Given the description of an element on the screen output the (x, y) to click on. 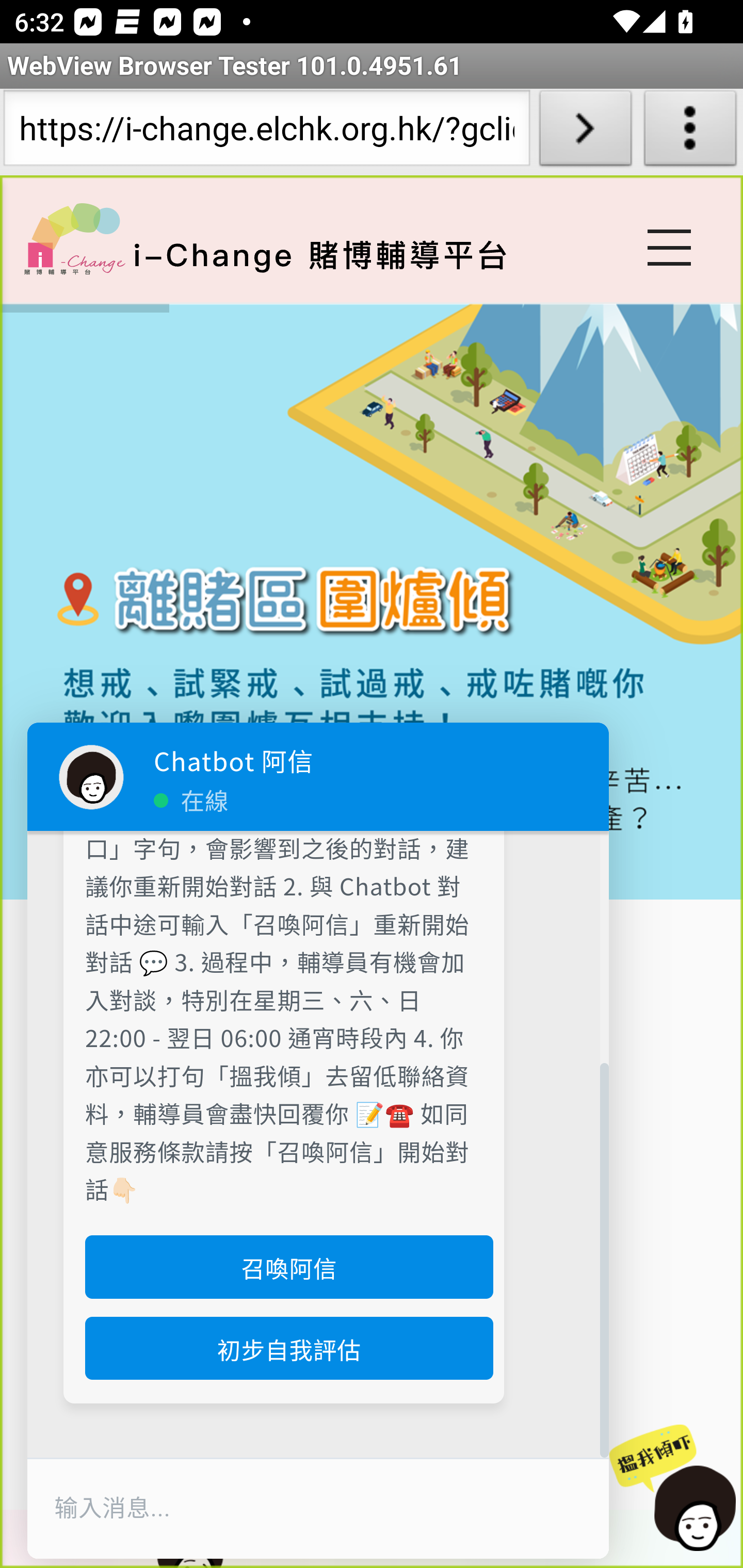
Load URL (585, 132)
About WebView (690, 132)
Home (74, 238)
Chat Now (672, 1488)
